Given the description of an element on the screen output the (x, y) to click on. 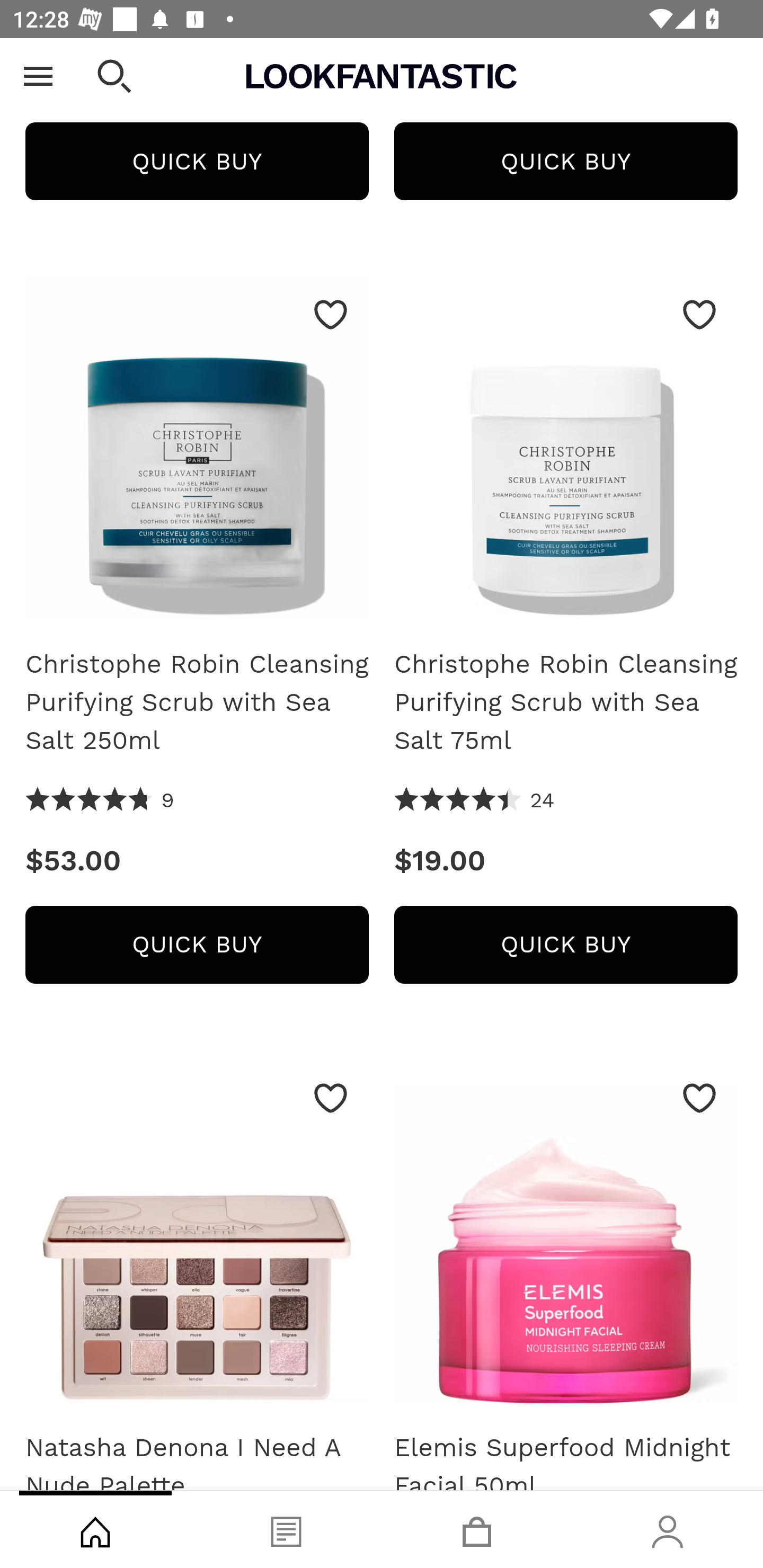
Save to Wishlist (330, 315)
Save to Wishlist (698, 315)
4.78 Stars 9 Reviews (99, 801)
4.46 Stars 24 Reviews (475, 801)
Price: $53.00 (196, 861)
Price: $19.00 (565, 861)
Natasha Denona I Need A Nude Palette (196, 1238)
Elemis Superfood Midnight Facial 50ml (565, 1238)
Save to Wishlist (330, 1099)
Save to Wishlist (698, 1099)
Natasha Denona I Need A Nude Palette (196, 1453)
Elemis Superfood Midnight Facial 50ml (565, 1453)
Shop, tab, 1 of 4 (95, 1529)
Blog, tab, 2 of 4 (285, 1529)
Basket, tab, 3 of 4 (476, 1529)
Account, tab, 4 of 4 (667, 1529)
